Given the description of an element on the screen output the (x, y) to click on. 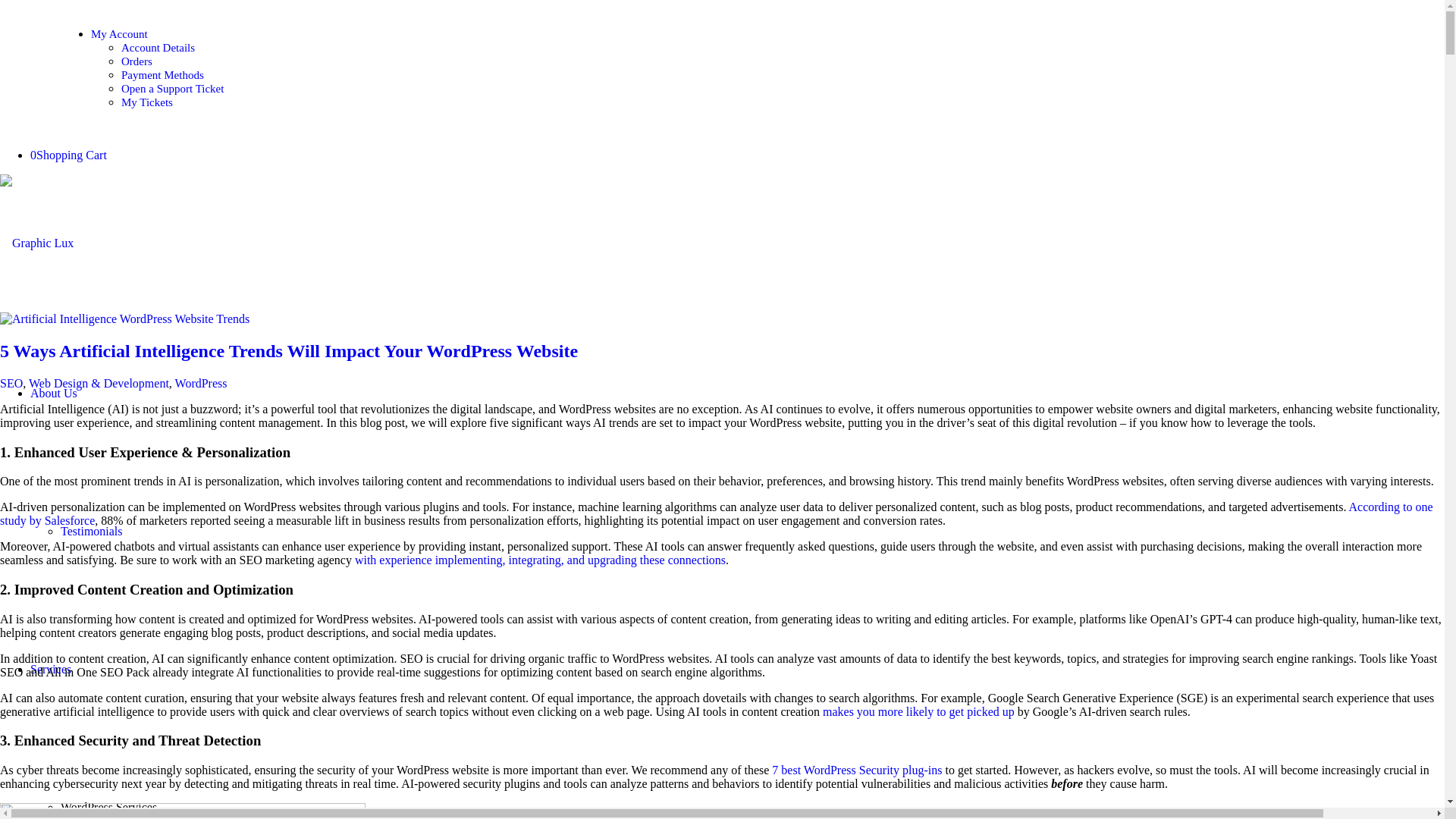
My Account (119, 33)
WordPress (200, 382)
Services (50, 668)
Payment Methods (161, 74)
Testimonials (91, 530)
0Shopping Cart (68, 154)
SEO (11, 382)
Open a Support Ticket (172, 88)
Orders (136, 61)
Account Details (157, 47)
Artificial Intelligence WordPress Website Trends (124, 318)
About Us (53, 392)
My Tickets (146, 102)
